Given the description of an element on the screen output the (x, y) to click on. 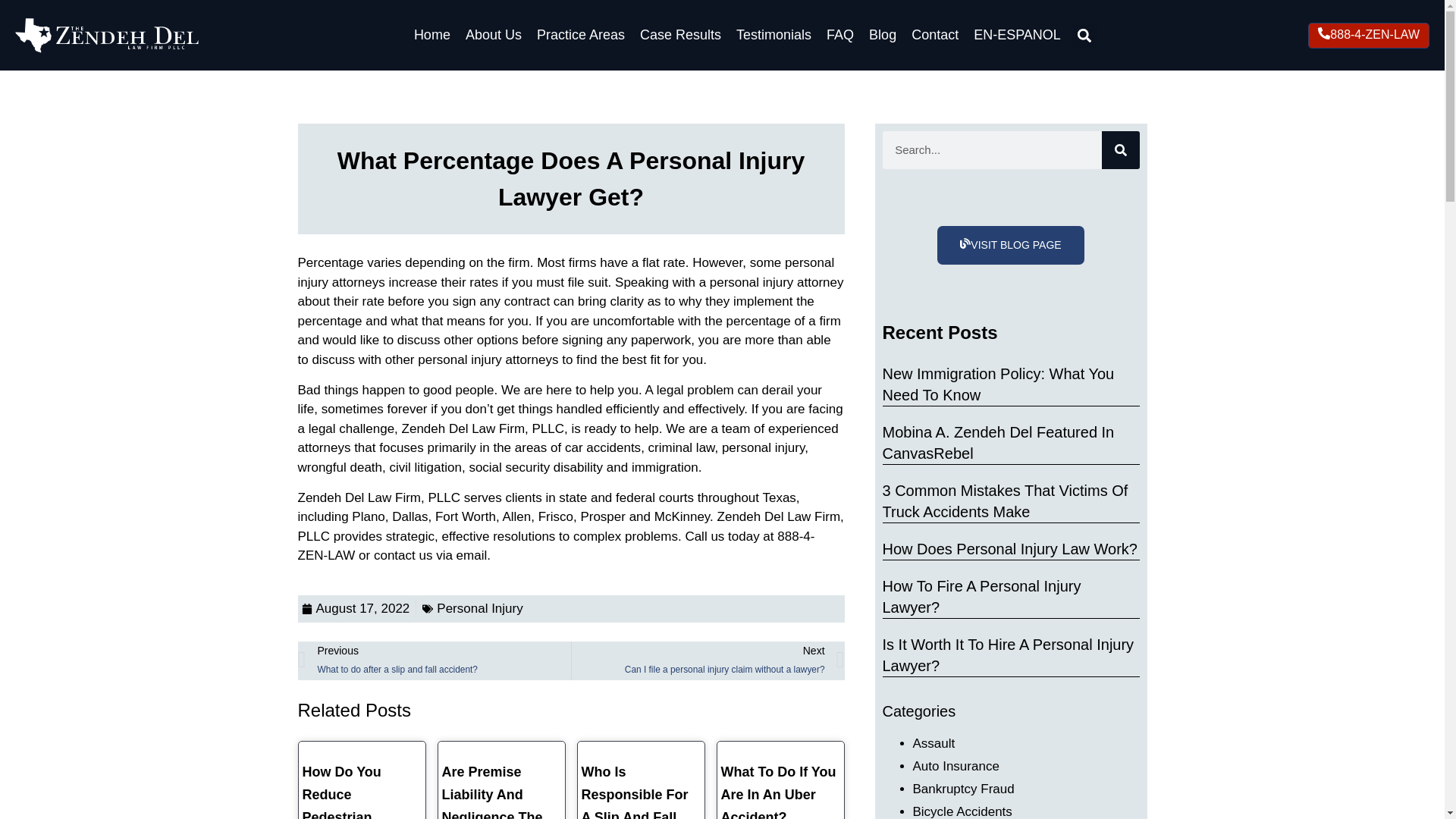
About Us (493, 34)
Blog (881, 34)
Testimonials (773, 34)
FAQ (839, 34)
Contact (934, 34)
Practice Areas (580, 34)
EN-ESPANOL (1016, 34)
Home (432, 34)
Case Results (680, 34)
